Given the description of an element on the screen output the (x, y) to click on. 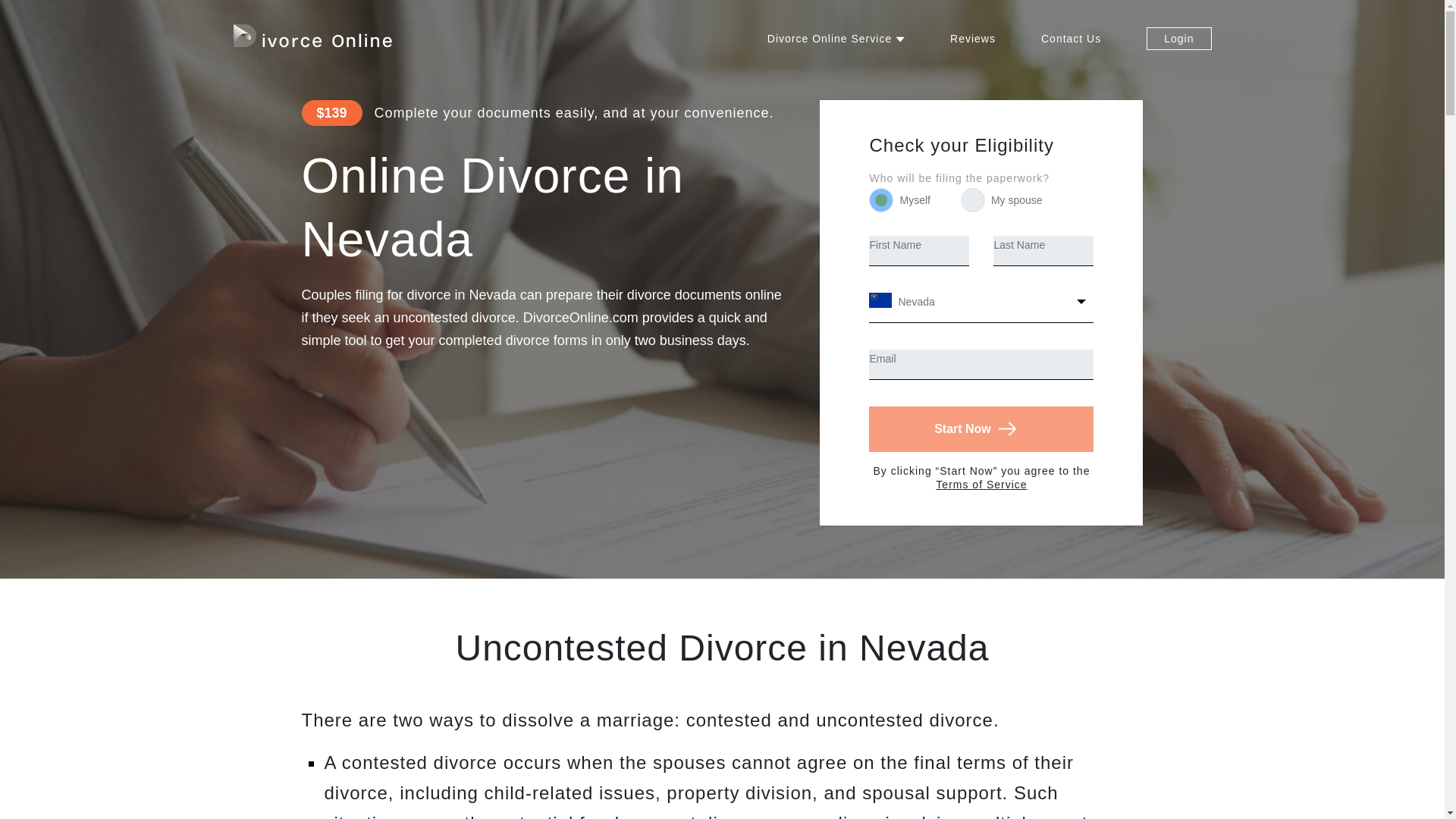
Nevada (981, 307)
Reviews (972, 38)
Terms of Service (981, 484)
Start Now (981, 429)
Divorce Online Service (835, 38)
Login (1179, 38)
Contact Us (1070, 38)
